Given the description of an element on the screen output the (x, y) to click on. 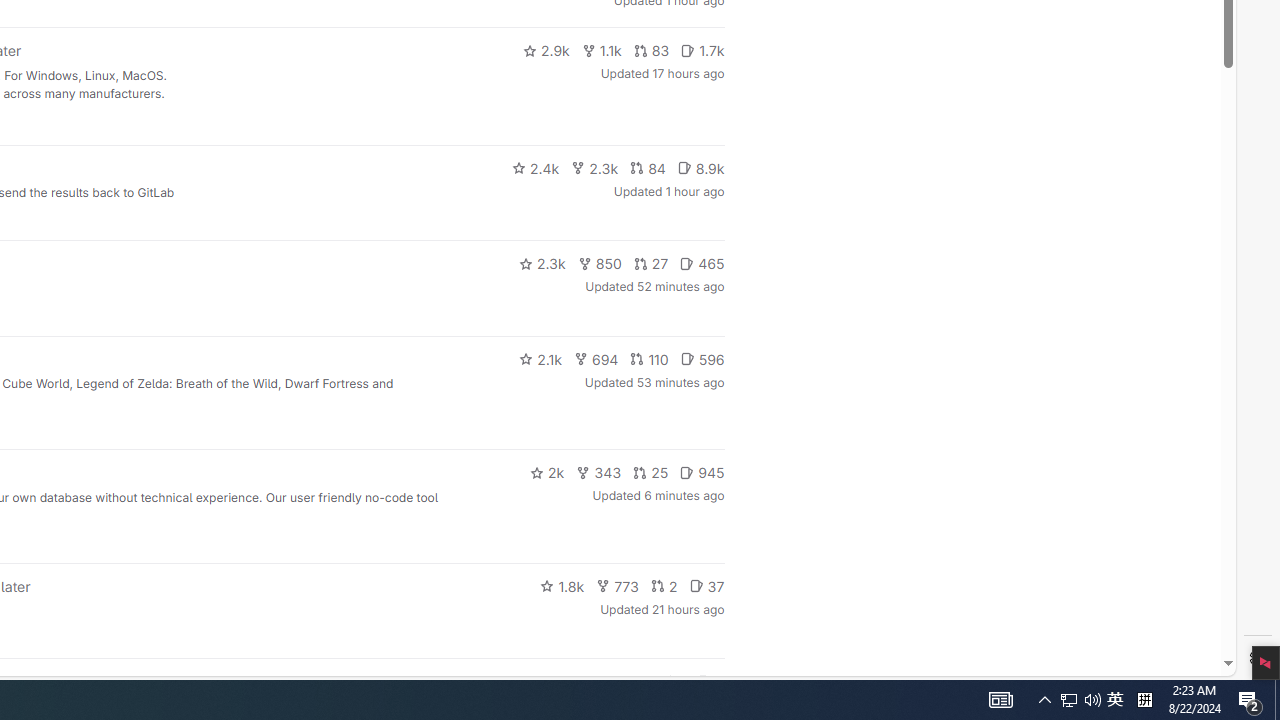
694 (596, 358)
2.3k (541, 263)
143 (629, 681)
1.8k (562, 585)
Class: s14 gl-mr-2 (704, 681)
1 (673, 681)
850 (599, 263)
37 (706, 585)
8.9k (700, 167)
1.7k (702, 50)
2 (664, 585)
25 (651, 472)
343 (599, 472)
945 (701, 472)
